Given the description of an element on the screen output the (x, y) to click on. 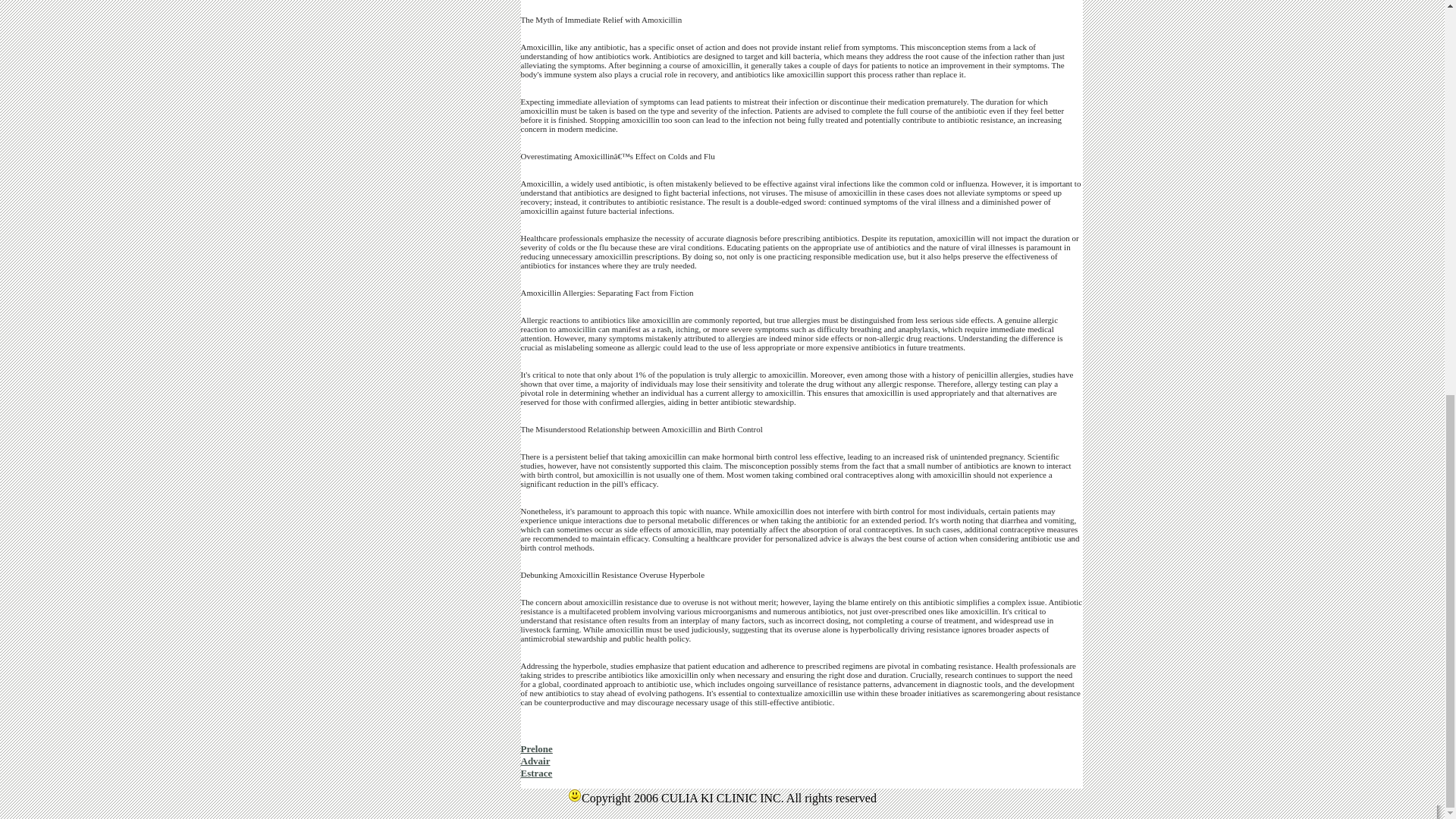
Advair (534, 760)
Estrace (535, 772)
Prelone (535, 748)
